Given the description of an element on the screen output the (x, y) to click on. 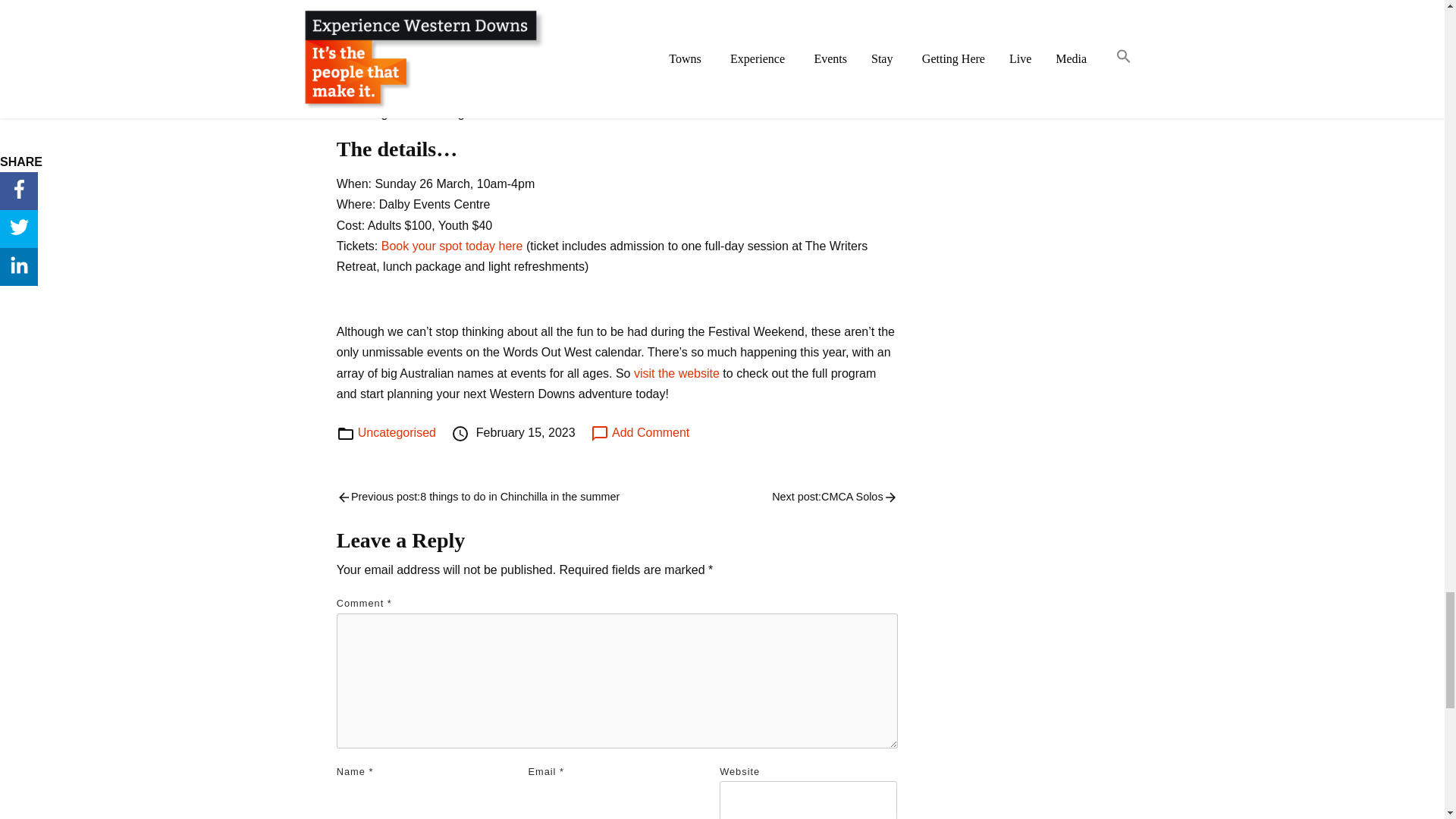
Book your spot today here (451, 245)
visit the website (676, 373)
Add Comment (639, 431)
Add Comment (639, 431)
Uncategorised (396, 431)
